Given the description of an element on the screen output the (x, y) to click on. 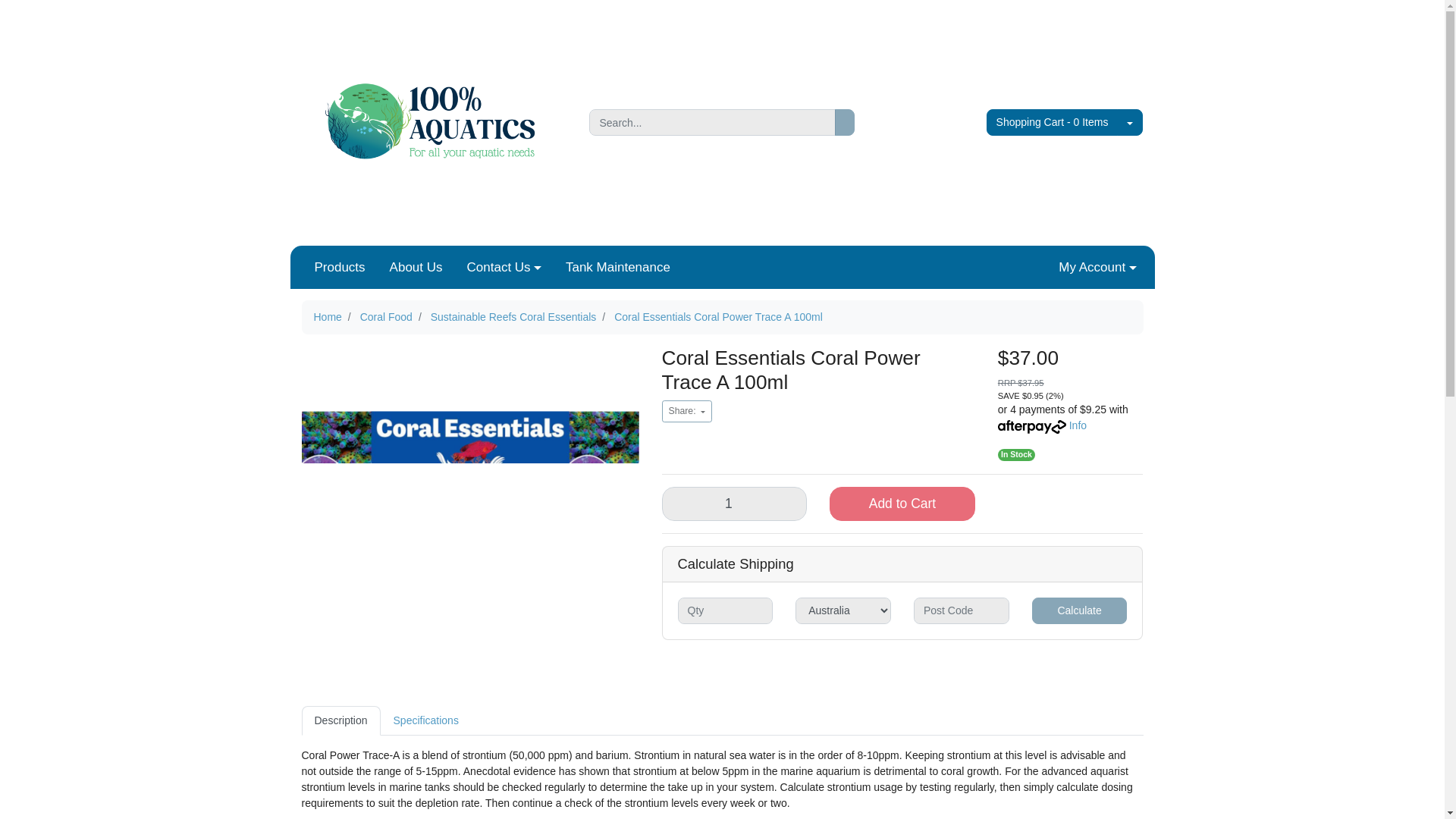
Tank Maintenance (617, 267)
Home (328, 316)
Share: (686, 410)
Calculate (1079, 610)
Info (1077, 425)
Shopping Cart - 0 Items (1052, 121)
Coral Food (385, 316)
Specifications (425, 720)
Sustainable Reefs Coral Essentials (513, 316)
My Account (1096, 267)
